Given the description of an element on the screen output the (x, y) to click on. 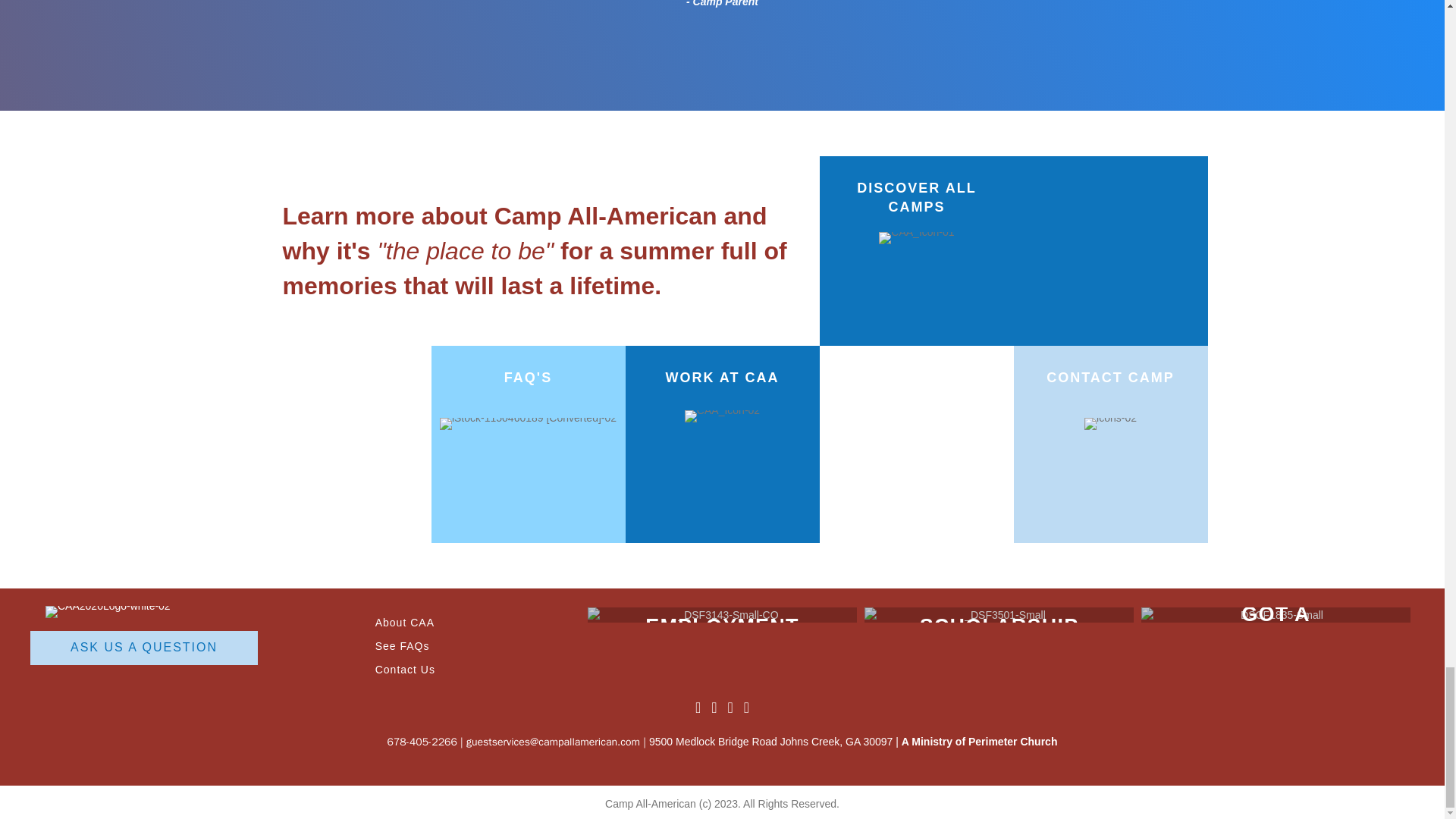
icons-02 (1110, 423)
See FAQs (402, 645)
ASK US A QUESTION (143, 647)
About CAA (404, 622)
A Ministry of Perimeter Church (979, 741)
Contact Us (405, 669)
CAA2020Logo-white-02 (107, 612)
